Given the description of an element on the screen output the (x, y) to click on. 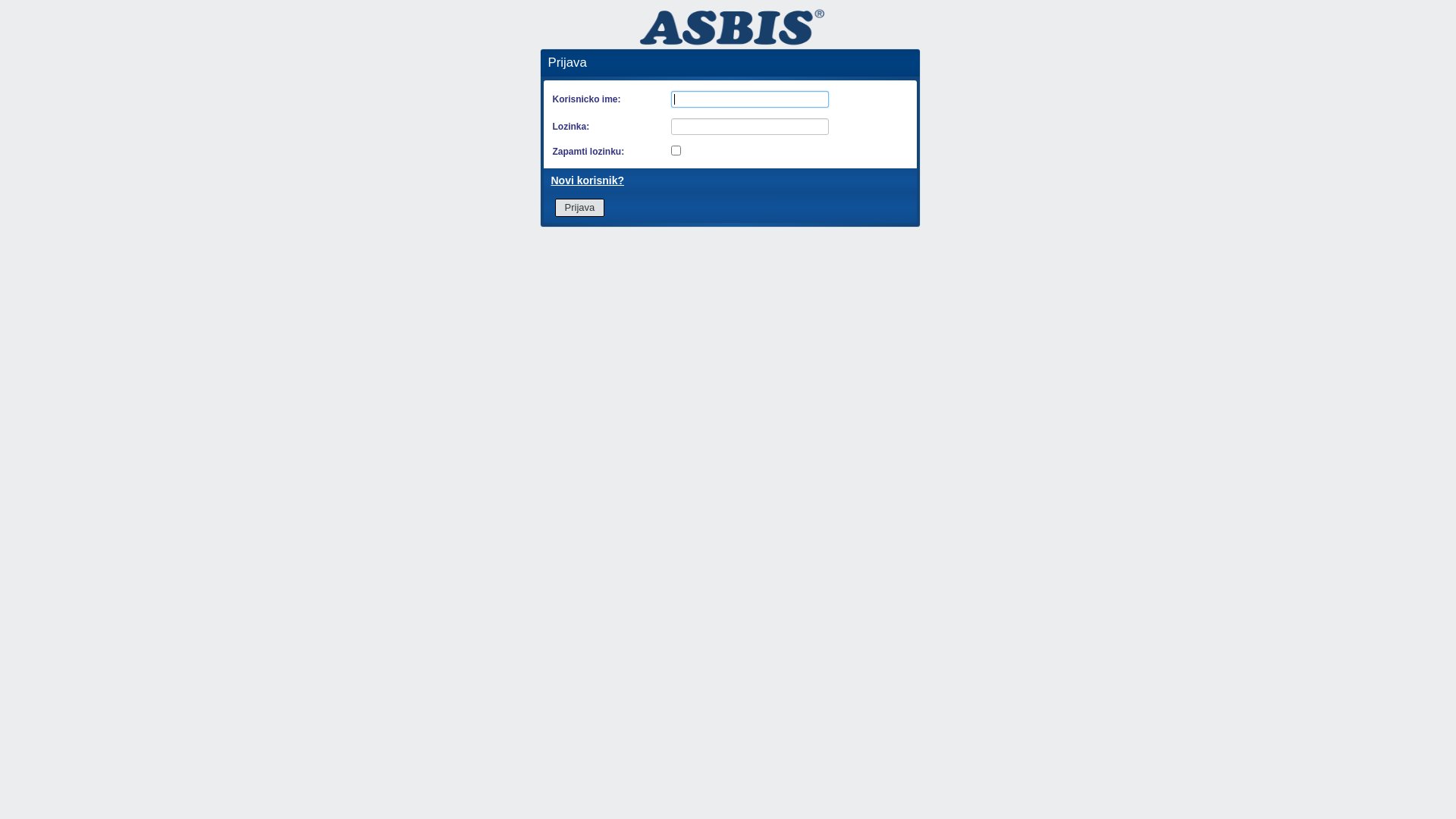
Novi korisnik? Element type: text (586, 180)
Prijava Element type: text (580, 207)
